Given the description of an element on the screen output the (x, y) to click on. 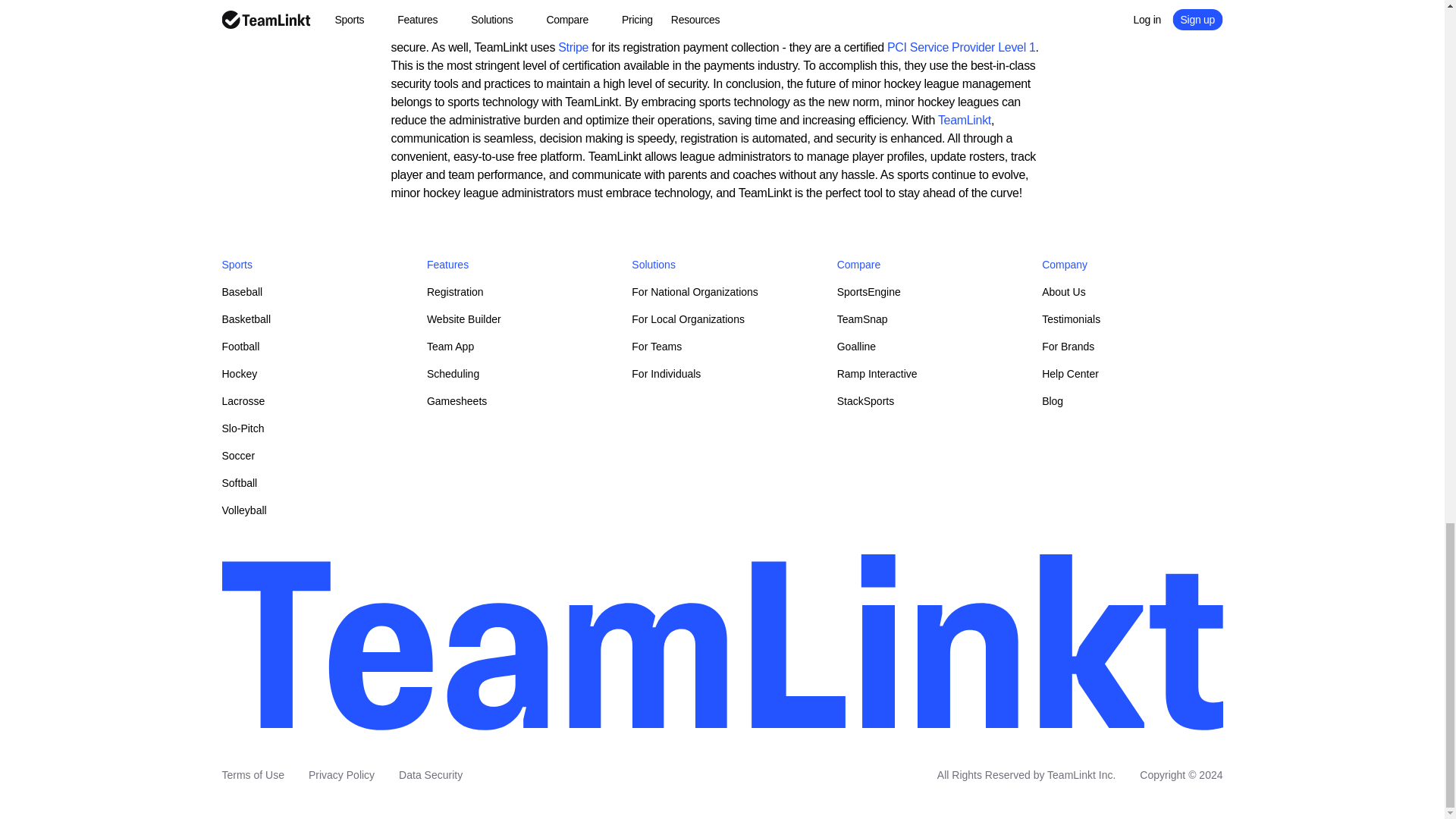
Baseball (241, 291)
Soccer (237, 455)
SportsEngine (869, 291)
Registration (454, 291)
Basketball (245, 318)
Stripe (572, 47)
For Individuals (665, 373)
Slo-Pitch (242, 428)
Team App (450, 346)
For Teams (656, 346)
Football (240, 346)
TeamLinkt (964, 119)
Gamesheets (456, 400)
StackSports (865, 400)
Softball (239, 482)
